Given the description of an element on the screen output the (x, y) to click on. 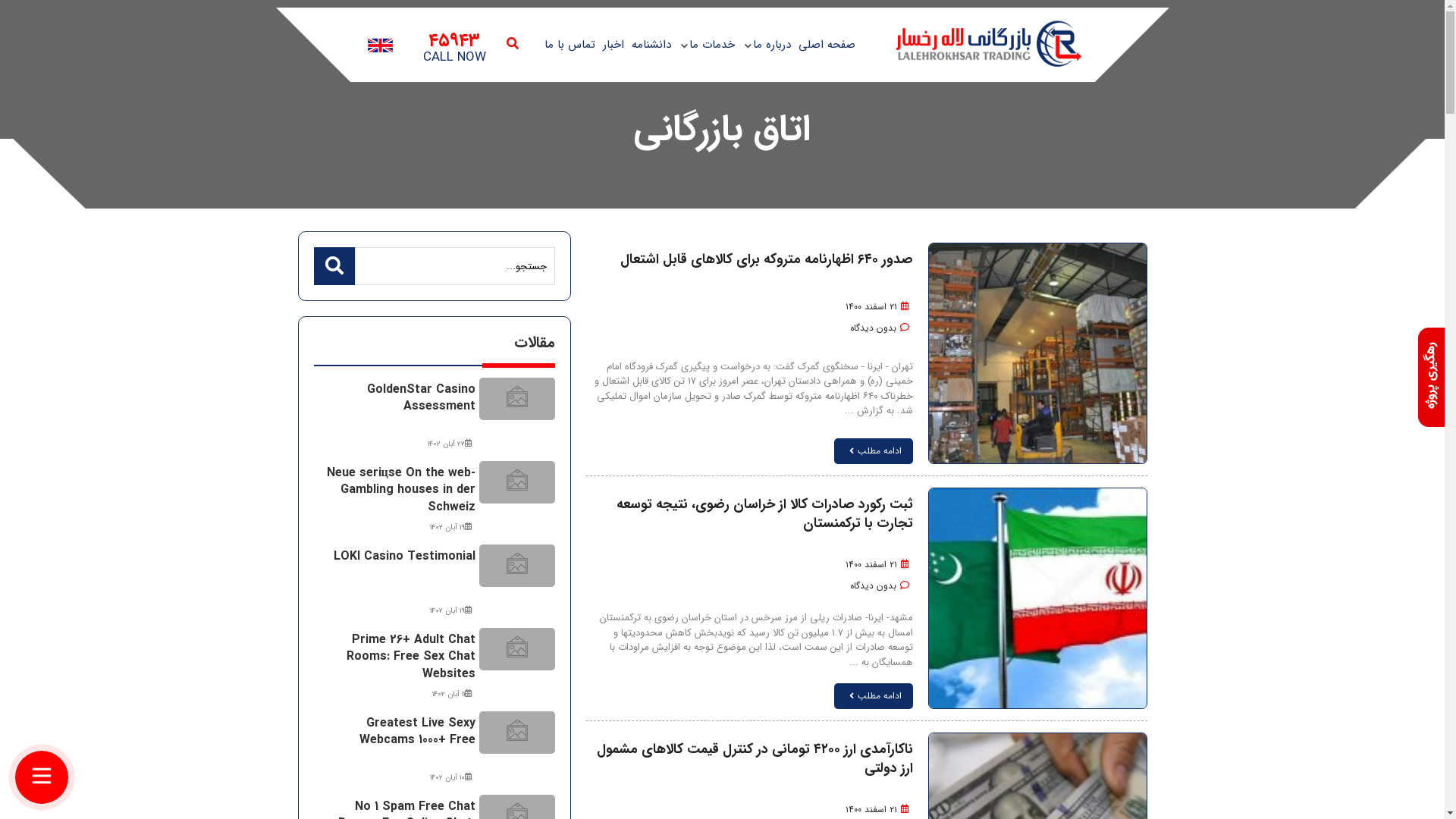
Prime 26+ Adult Chat Rooms: Free Sex Chat Websites Element type: text (410, 656)
LOKI Casino Testimonial Element type: text (404, 555)
Greatest Live Sexy Webcams 1000+ Free Element type: text (417, 731)
GoldenStar Casino Assessment Element type: text (421, 397)
